Given the description of an element on the screen output the (x, y) to click on. 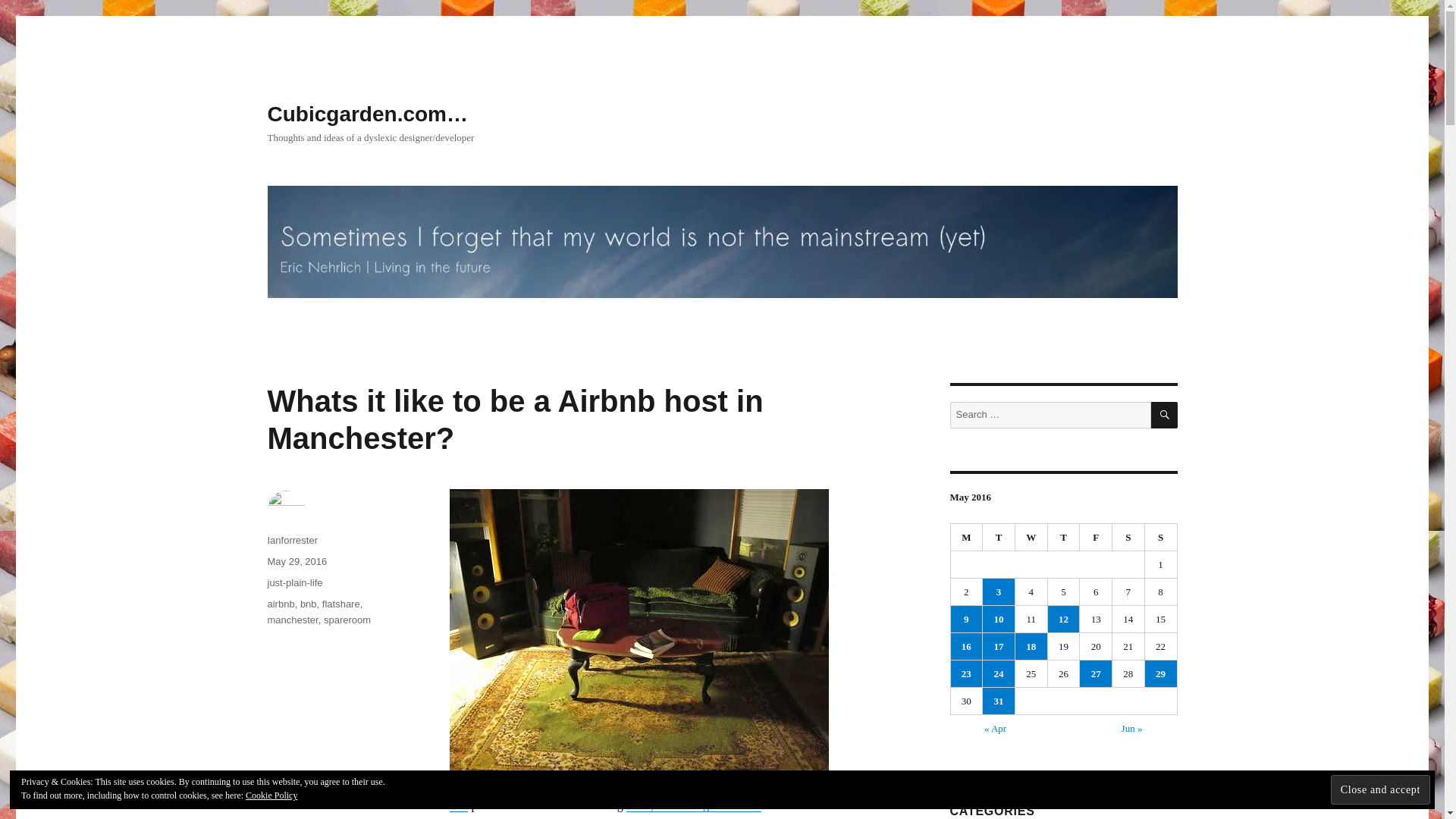
just-plain-life (293, 582)
airbnb (280, 603)
flatshare (340, 603)
spareroom (347, 619)
Close and accept (1379, 789)
manchester (291, 619)
bnb (308, 603)
AirBnB kinda sucks (676, 630)
Ianforrester (291, 540)
Zoe (457, 804)
One year hosting on Airbnb (693, 804)
May 29, 2016 (296, 561)
